Given the description of an element on the screen output the (x, y) to click on. 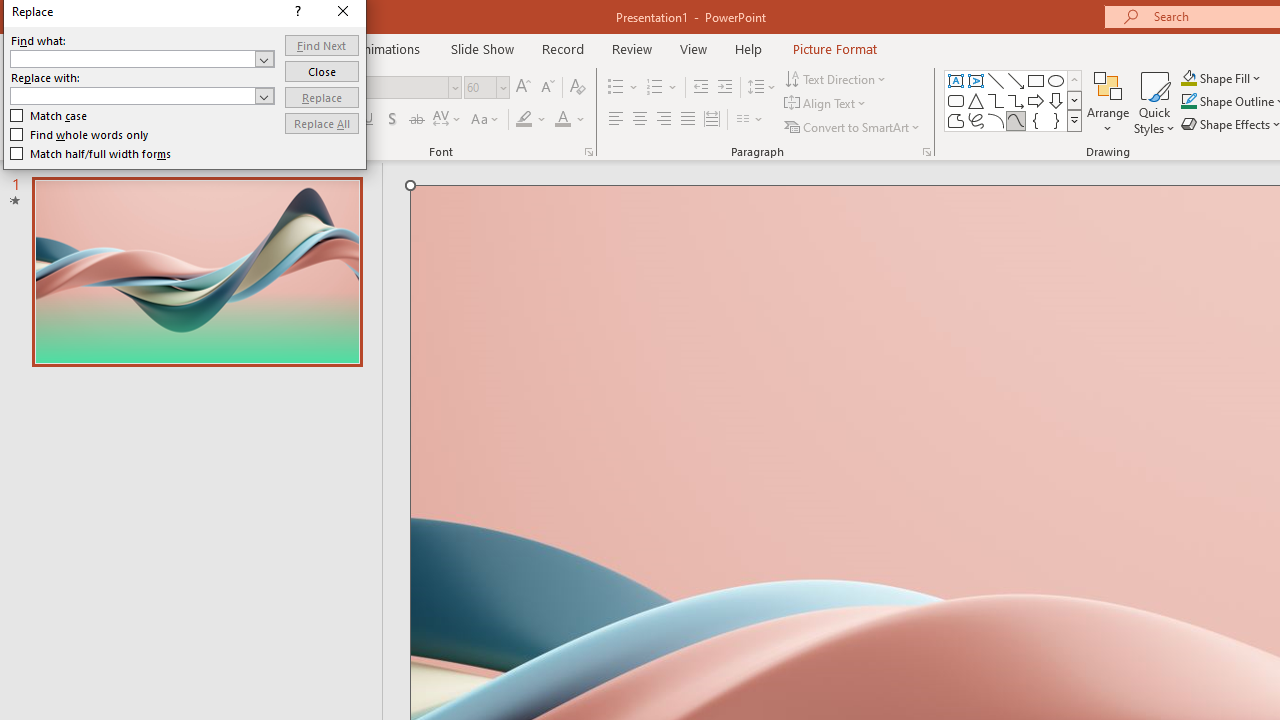
Find whole words only (79, 134)
Match half/full width forms (91, 154)
Replace All (321, 123)
